Given the description of an element on the screen output the (x, y) to click on. 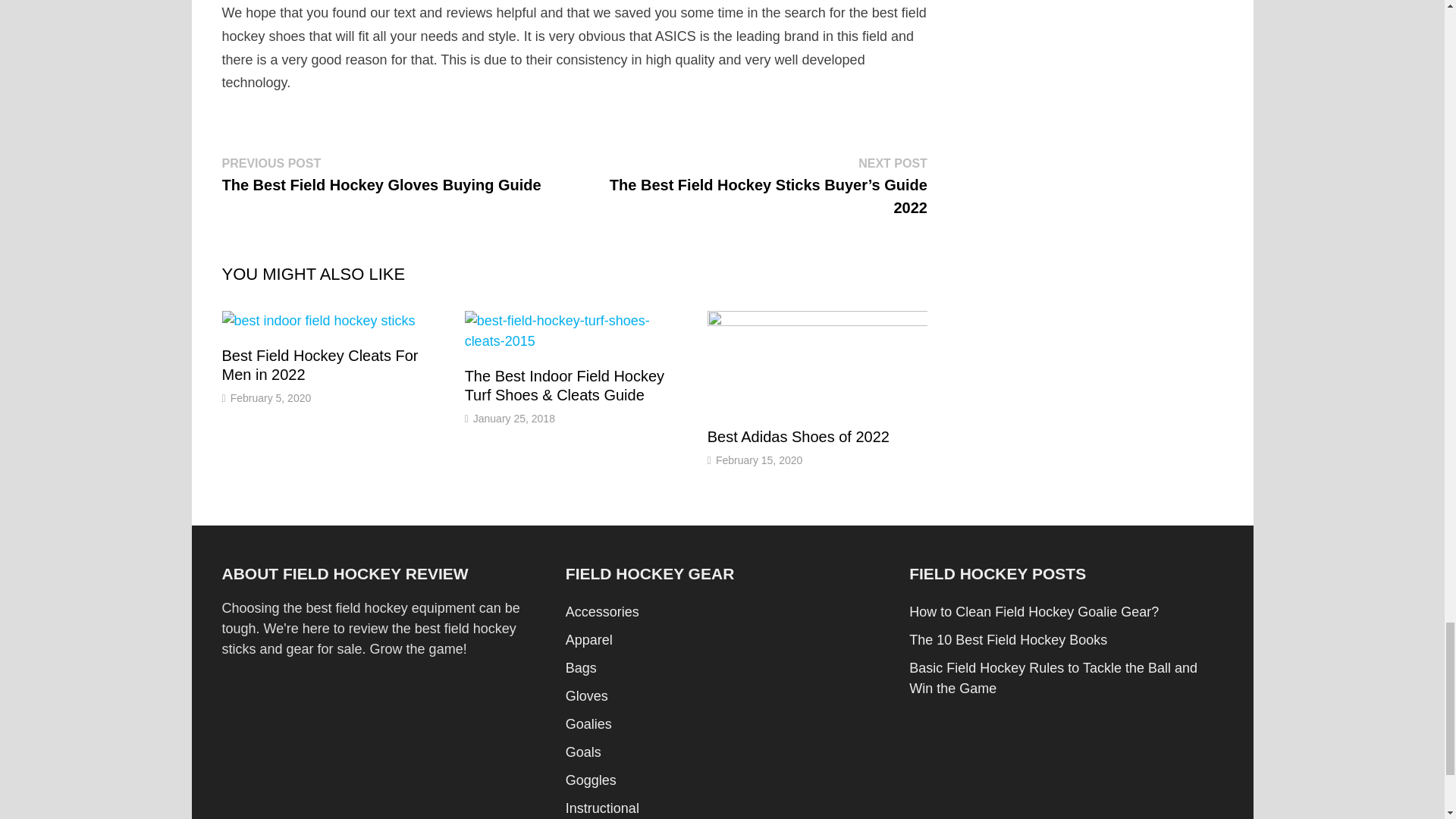
Best Field Hockey Cleats For Men in 2022 (319, 365)
Best Adidas Shoes of 2022 (798, 436)
